Given the description of an element on the screen output the (x, y) to click on. 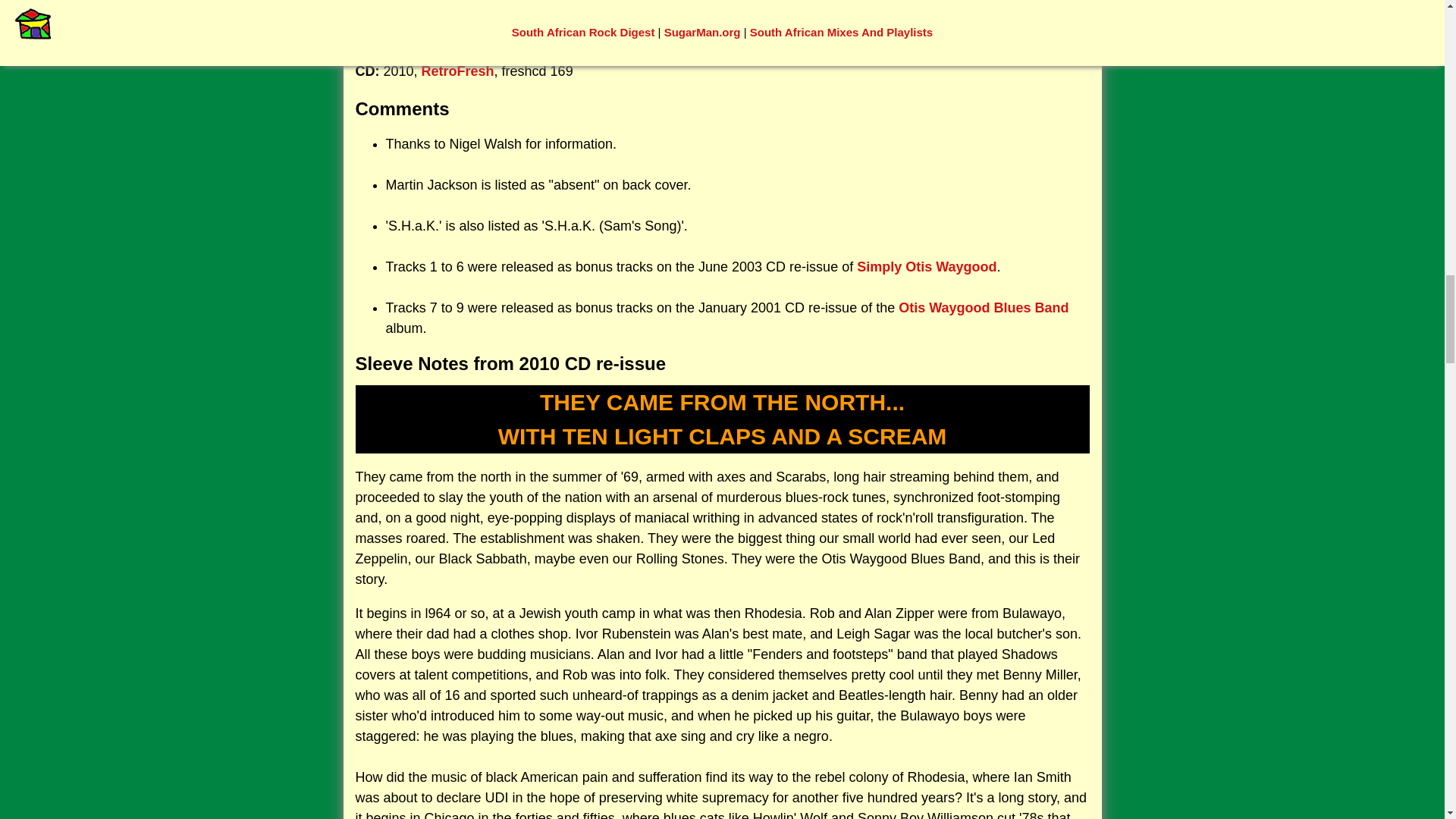
Otis Waygood Blues Band (983, 307)
RetroFresh (458, 70)
Simply Otis Waygood (926, 266)
